Given the description of an element on the screen output the (x, y) to click on. 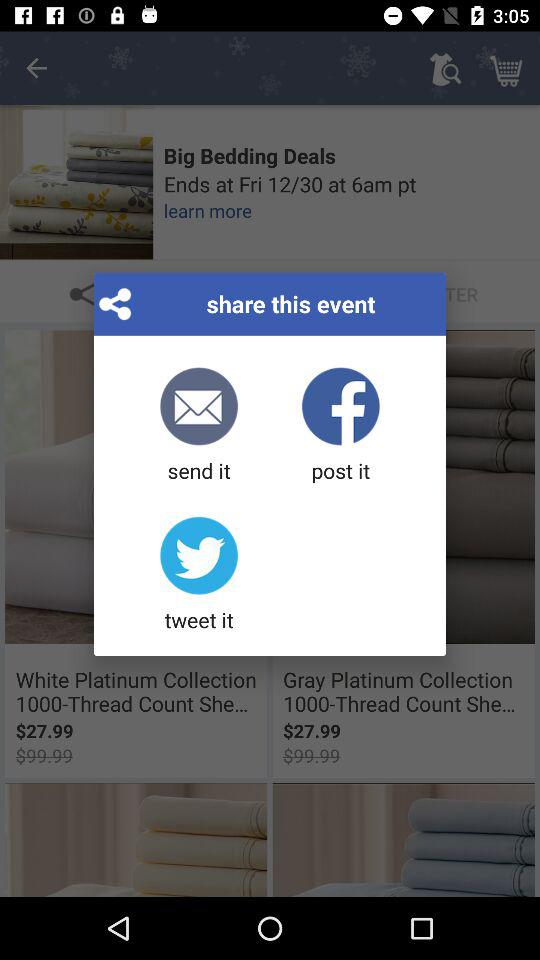
turn off the item above tweet it item (198, 425)
